Given the description of an element on the screen output the (x, y) to click on. 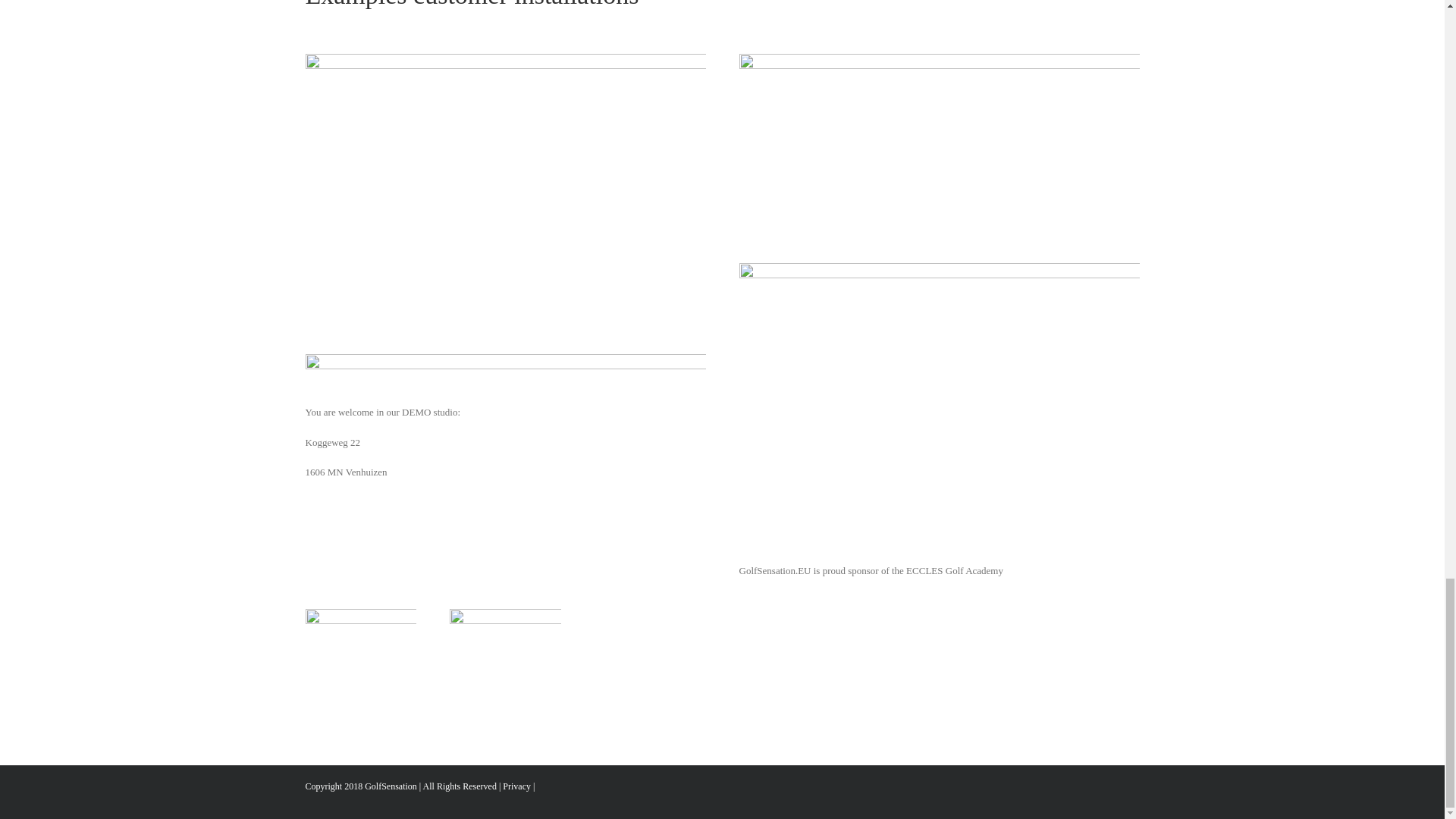
Examples customer installations (721, 26)
